Given the description of an element on the screen output the (x, y) to click on. 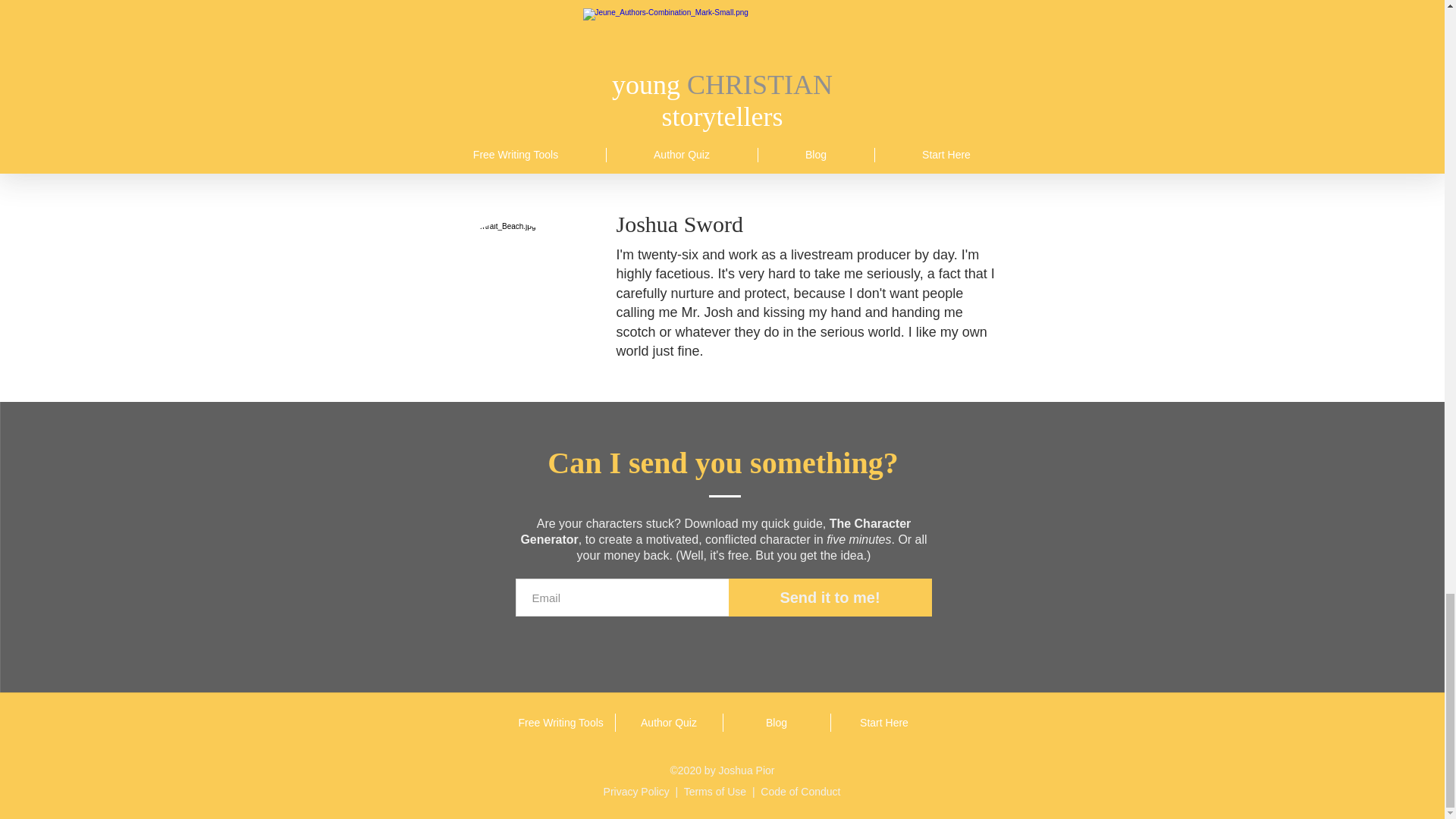
3 (439, 104)
Privacy Policy (636, 791)
Start Here (884, 722)
Terms of Use (714, 791)
Send it to me! (829, 597)
Free Writing Tools (560, 722)
0 (936, 104)
Code of Conduct (800, 791)
1 (690, 104)
Author Quiz (668, 722)
